Given the description of an element on the screen output the (x, y) to click on. 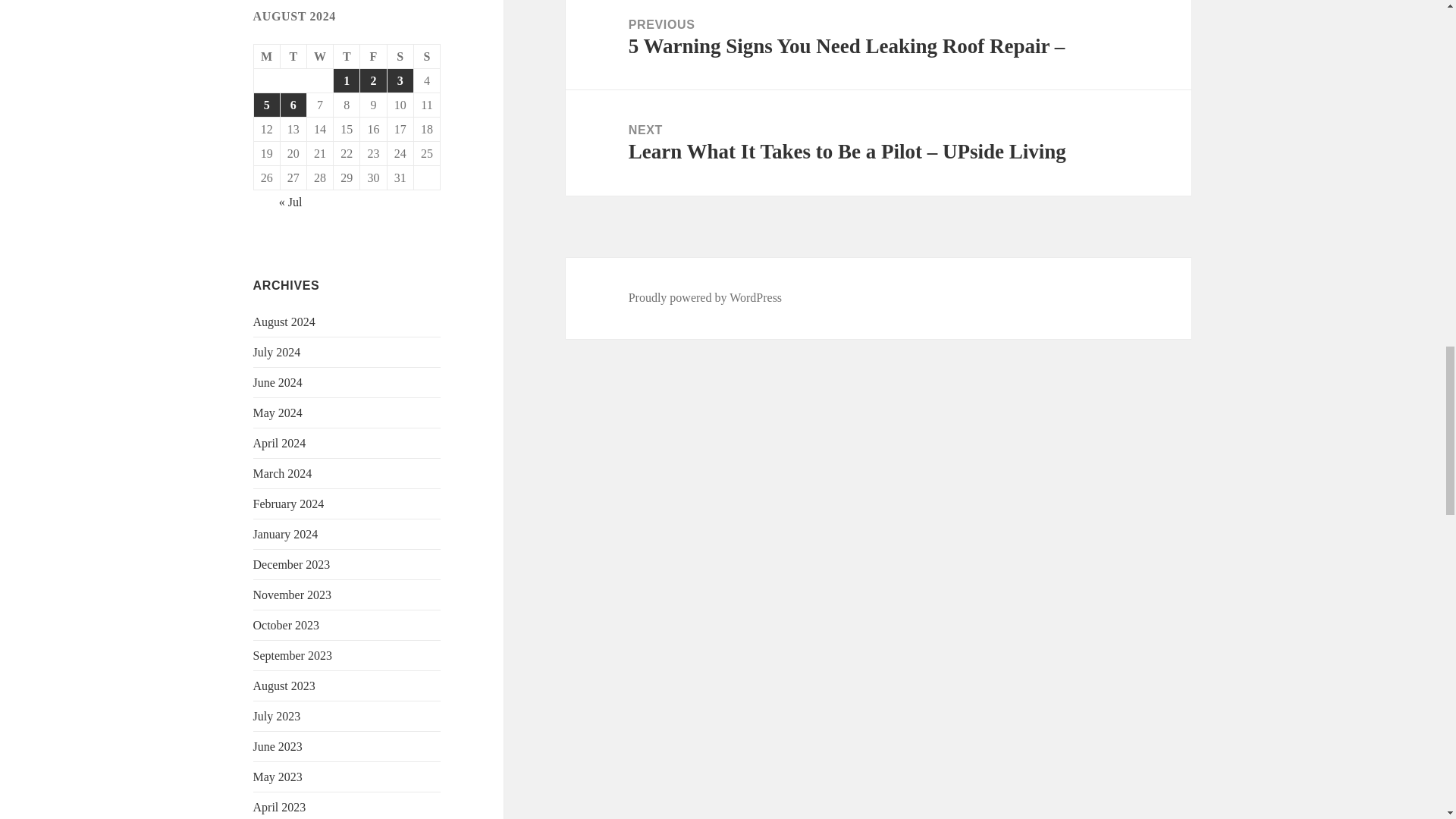
August 2024 (284, 321)
April 2024 (279, 442)
July 2024 (277, 351)
Monday (267, 56)
1 (346, 80)
September 2023 (292, 655)
October 2023 (286, 625)
December 2023 (291, 563)
Sunday (427, 56)
January 2024 (285, 533)
June 2023 (277, 746)
April 2023 (279, 807)
March 2024 (283, 472)
May 2023 (277, 776)
August 2023 (284, 685)
